Given the description of an element on the screen output the (x, y) to click on. 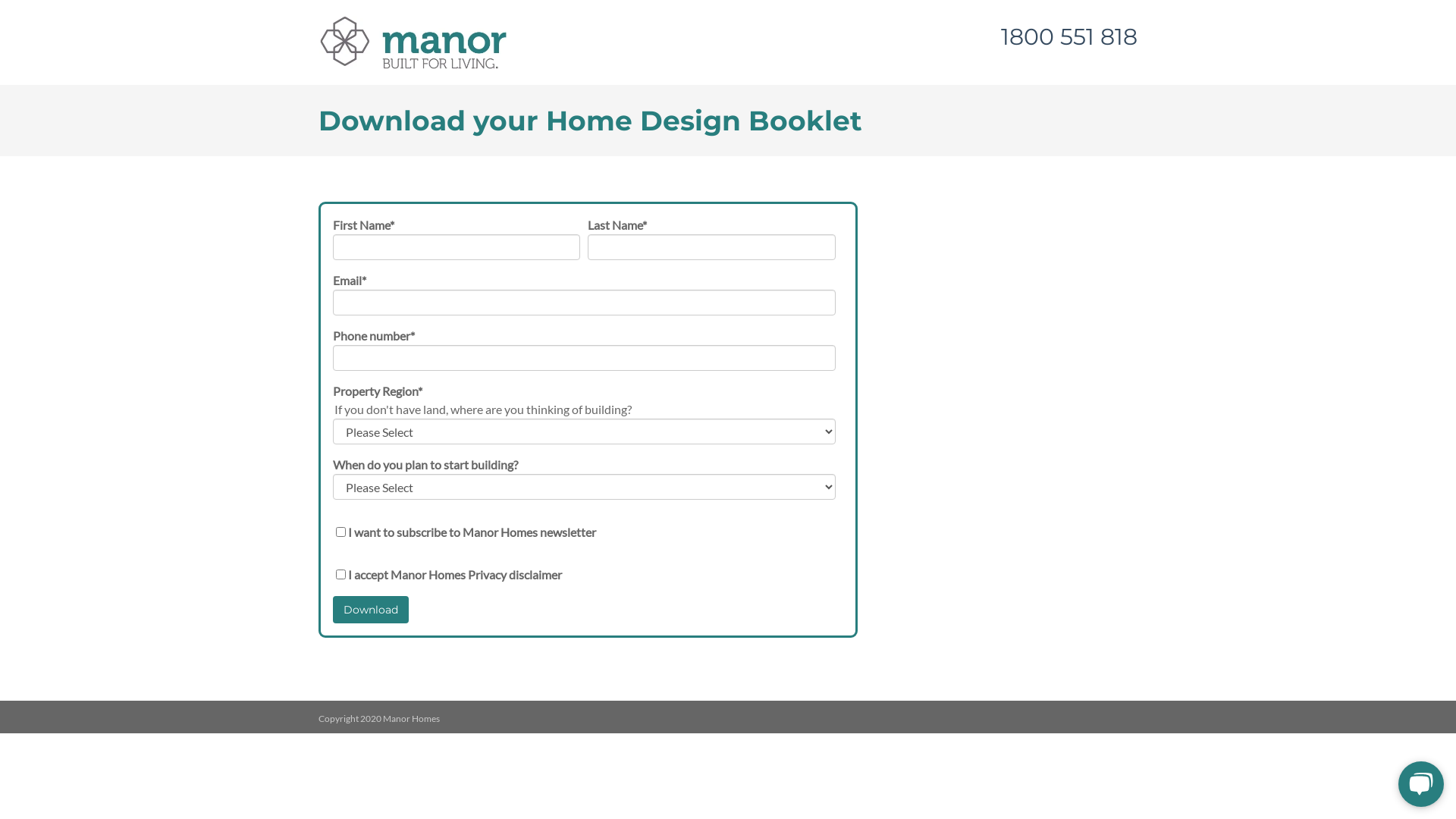
1800 551 818 Element type: text (1069, 36)
Manor-Logo-RGB-LR.jpg Element type: hover (412, 42)
Download Element type: text (370, 609)
